Given the description of an element on the screen output the (x, y) to click on. 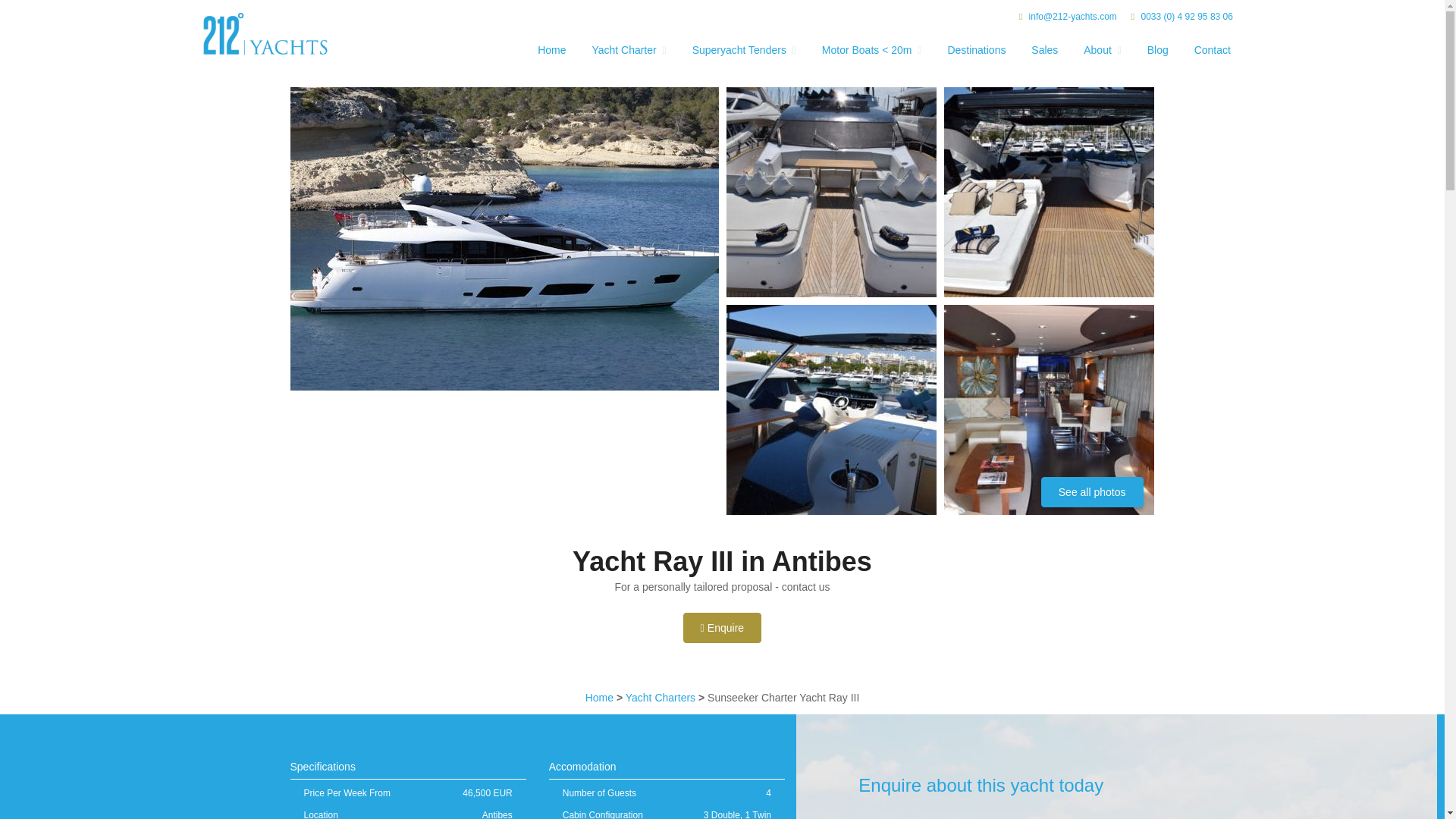
Yacht Charter (623, 53)
